Given the description of an element on the screen output the (x, y) to click on. 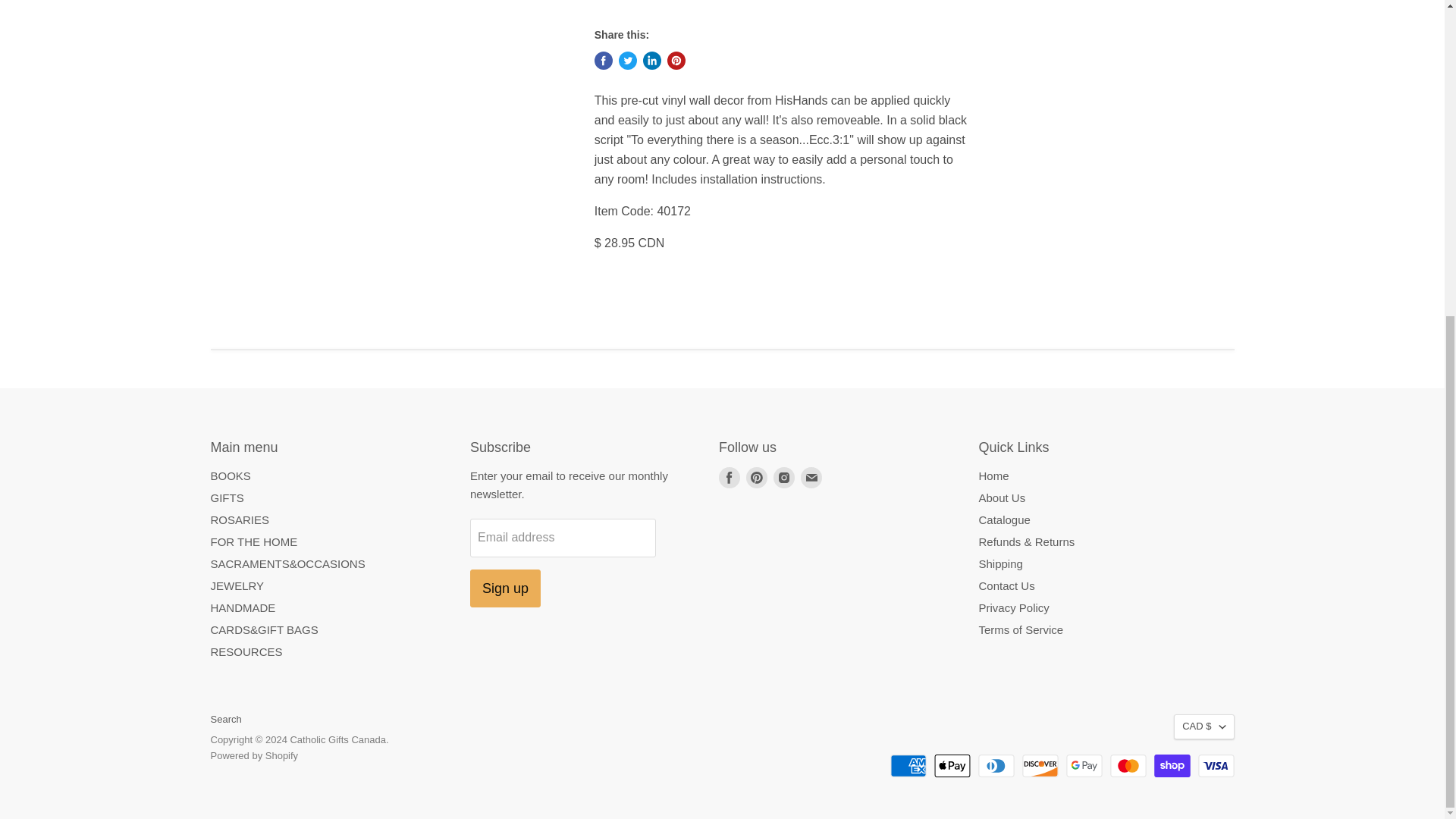
Email (811, 477)
Pinterest (756, 477)
Facebook (729, 477)
Instagram (783, 477)
